Given the description of an element on the screen output the (x, y) to click on. 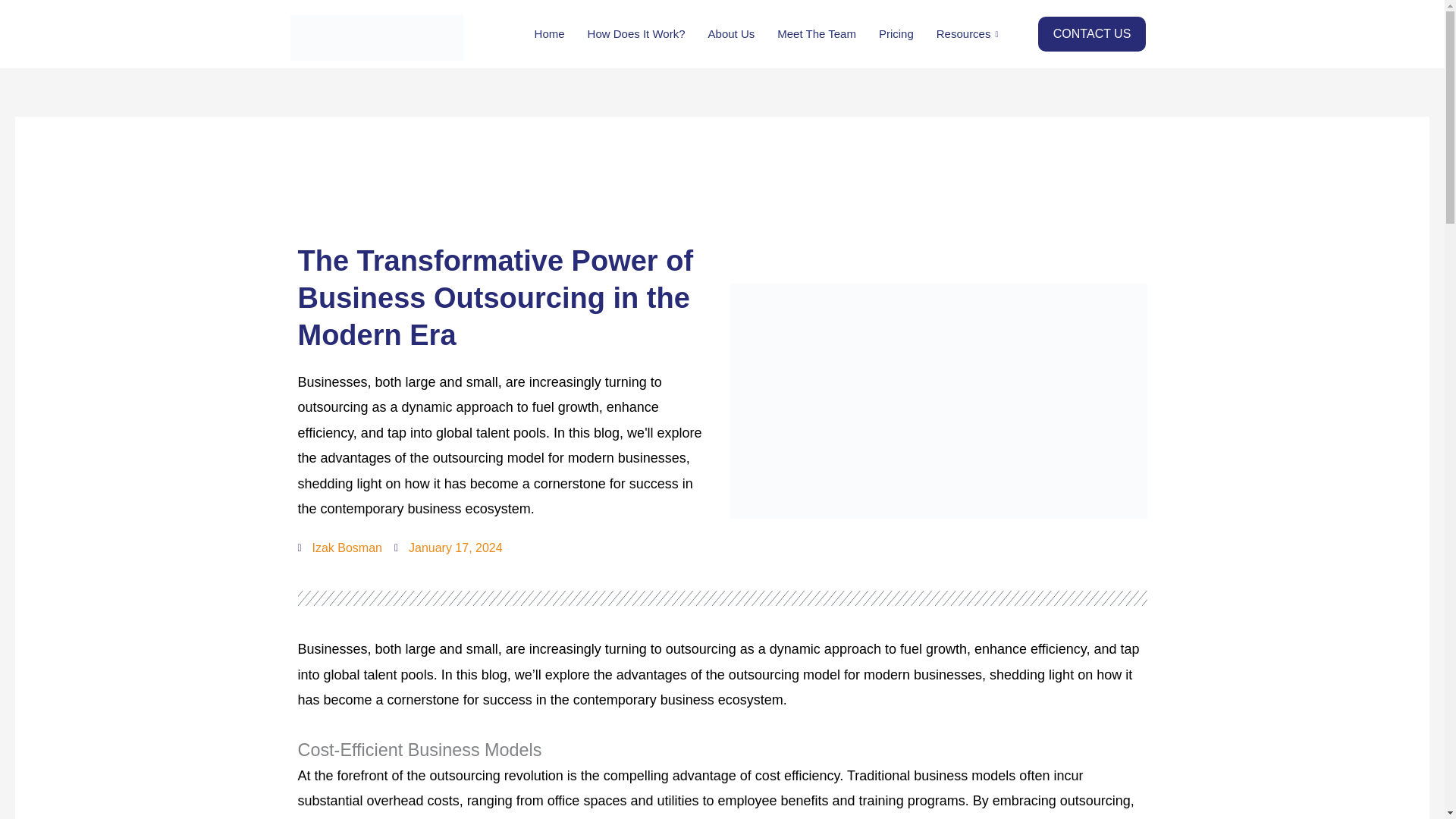
Home (549, 33)
Resources (968, 33)
CONTACT US (1092, 33)
Meet The Team (816, 33)
About Us (732, 33)
Pricing (895, 33)
How Does It Work? (636, 33)
